Given the description of an element on the screen output the (x, y) to click on. 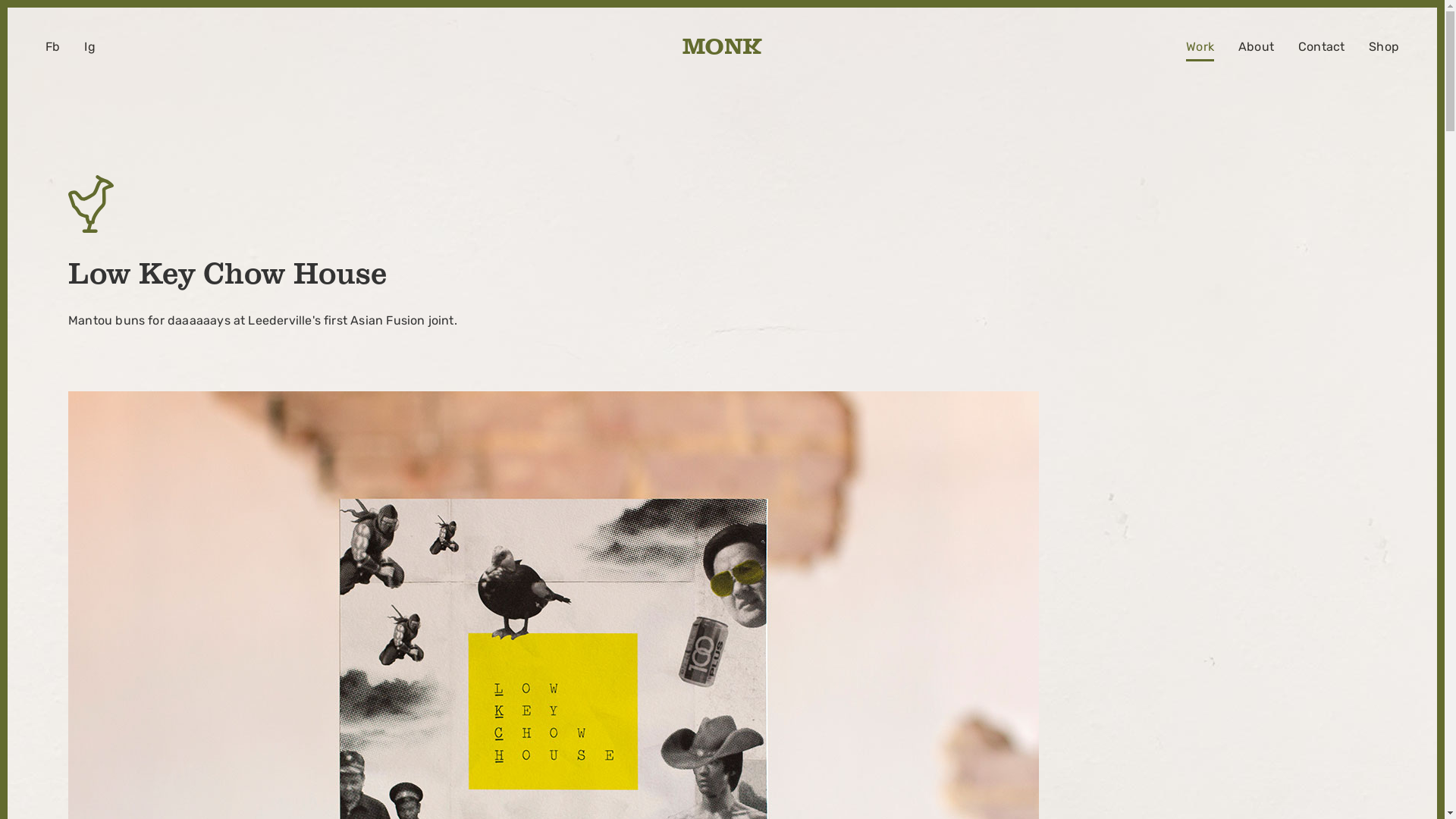
Contact Element type: text (1321, 49)
Fb Element type: text (52, 49)
Work Element type: text (1200, 49)
Ig Element type: text (89, 49)
M
O
N
K Element type: text (722, 54)
Shop Element type: text (1383, 49)
About Element type: text (1256, 49)
